Given the description of an element on the screen output the (x, y) to click on. 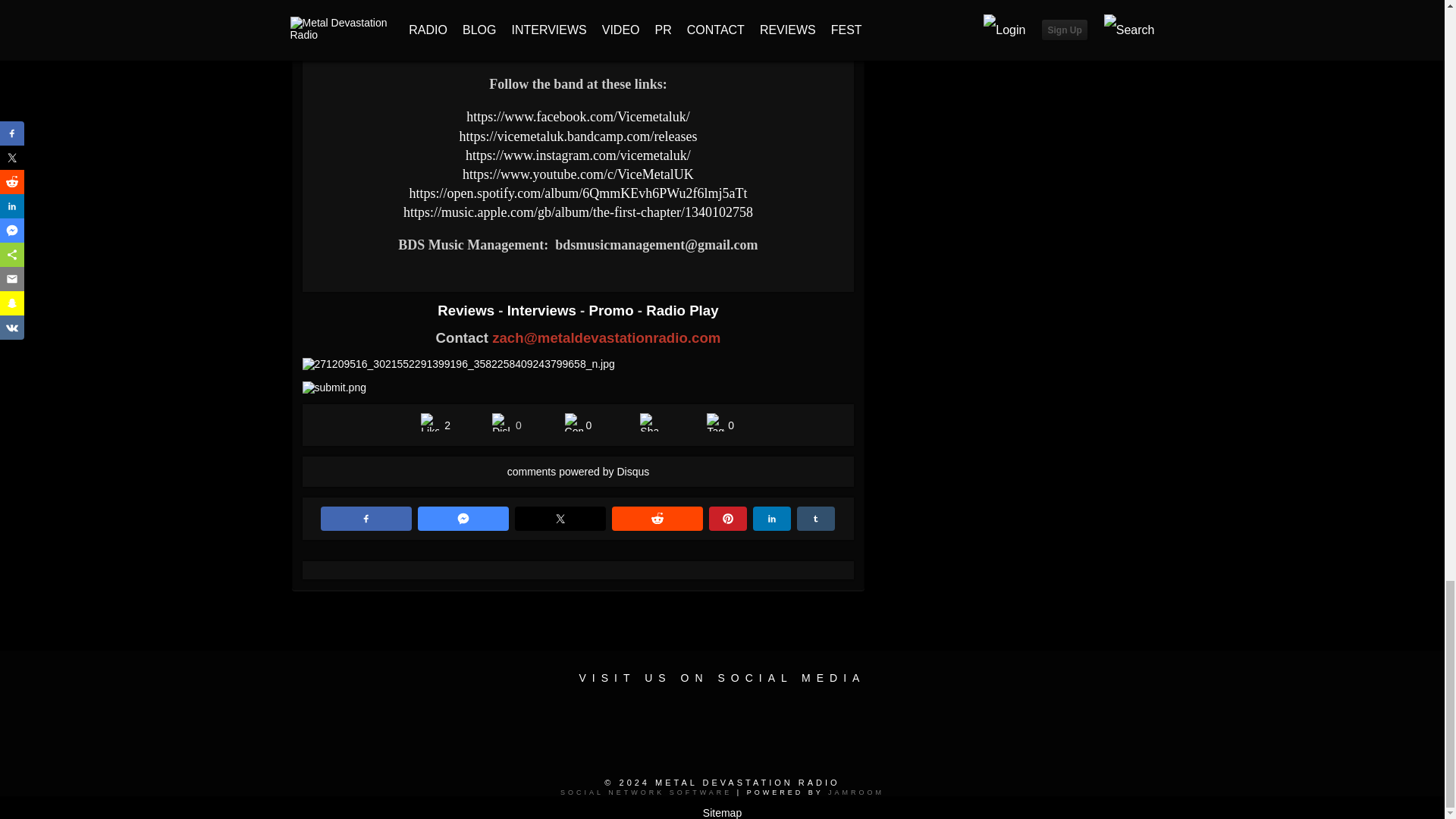
Interviews (542, 310)
Post Your Comment (573, 422)
Share This with your Followers (649, 422)
Reviews (467, 310)
Tag (715, 422)
Dislike (501, 422)
Like (429, 422)
Promo (612, 310)
Radio Play (681, 310)
